Given the description of an element on the screen output the (x, y) to click on. 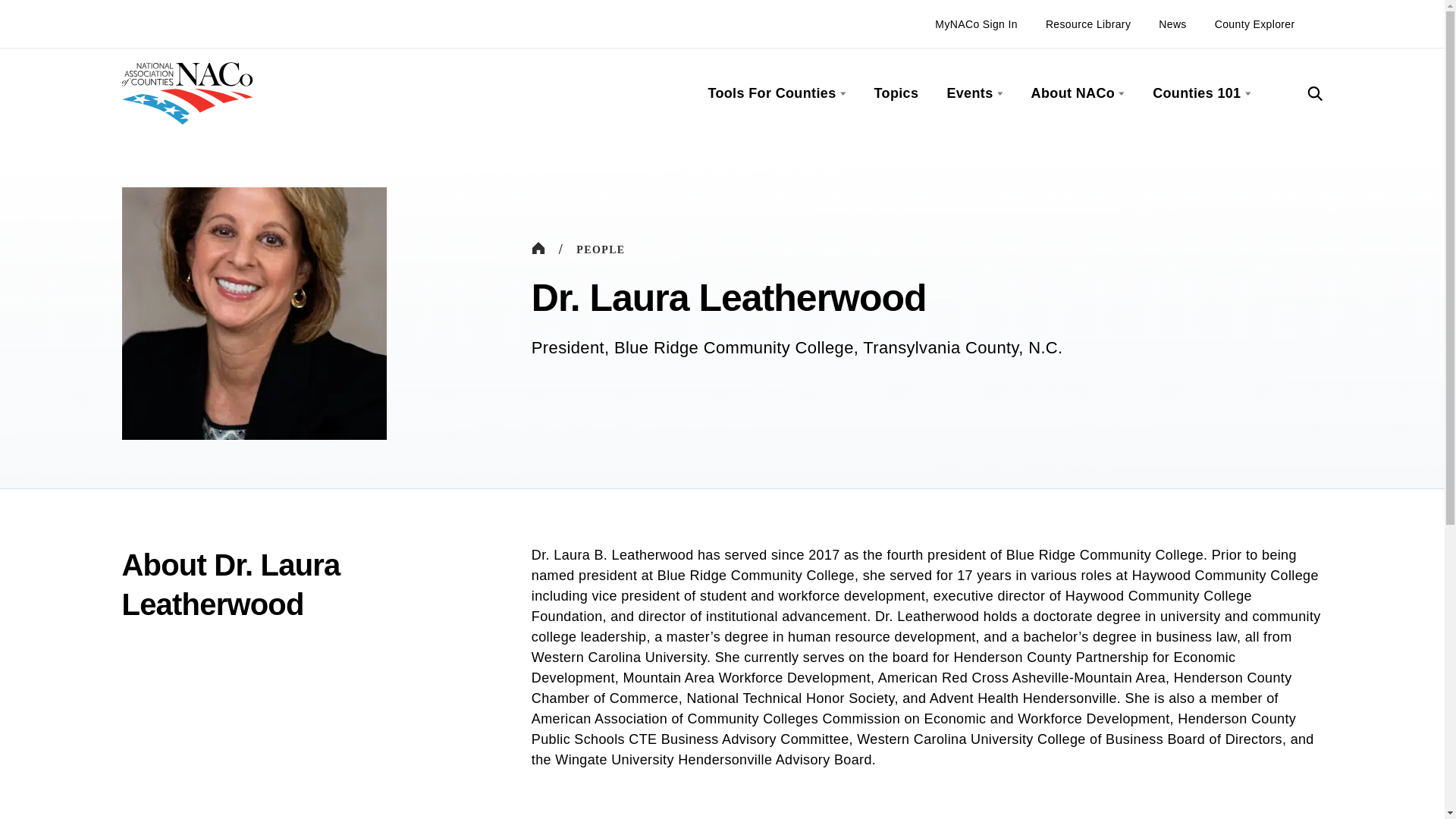
Tools For Counties (771, 93)
Topics (896, 93)
News (1172, 24)
County Explorer (1254, 24)
Events (969, 93)
MyNACo Sign In (975, 24)
Toggle Menu (840, 93)
Resource Library (1088, 24)
Toggle Menu (1119, 93)
Toggle Menu (997, 93)
